Given the description of an element on the screen output the (x, y) to click on. 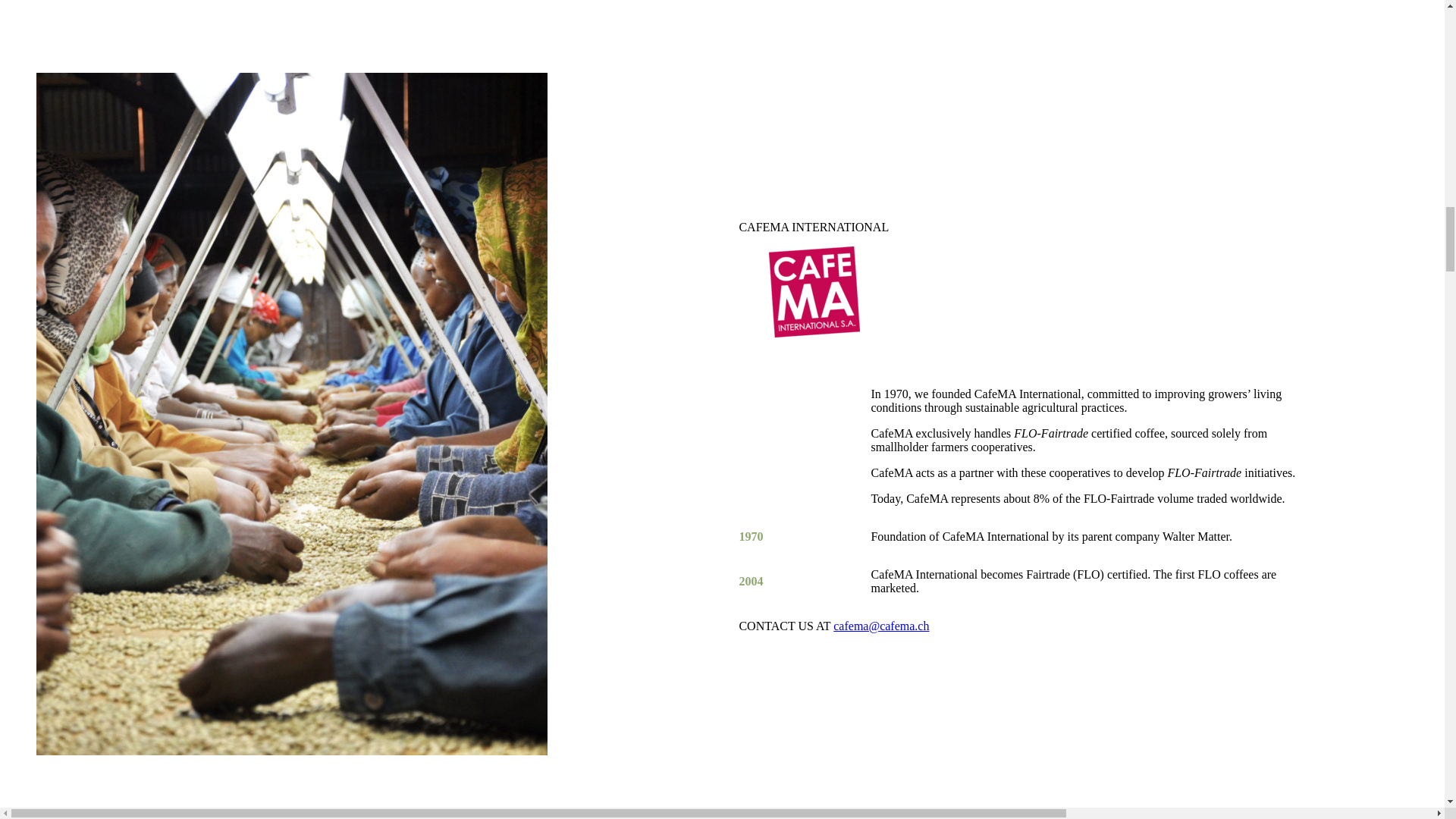
Reports Element type: text (55, 423)
News Element type: text (49, 409)
History Element type: text (66, 259)
About us Element type: text (58, 231)
Walter Matter in a nutshell Element type: text (113, 245)
Sustainability Element type: text (69, 313)
EN Element type: text (44, 462)
FR Element type: text (43, 476)
Cocoa Element type: text (51, 395)
Contact us Element type: text (61, 436)
Approach Element type: text (72, 341)
Products Element type: text (69, 286)
Coffee Element type: text (52, 382)
Projects Element type: text (67, 368)
Commitment Element type: text (80, 327)
Services Element type: text (68, 300)
Skip to content Element type: text (42, 12)
FR Element type: text (43, 218)
Walter Matter Element type: text (39, 191)
Values Element type: text (64, 272)
Ethics & Compliance Element type: text (100, 354)
EN Element type: text (44, 204)
